Given the description of an element on the screen output the (x, y) to click on. 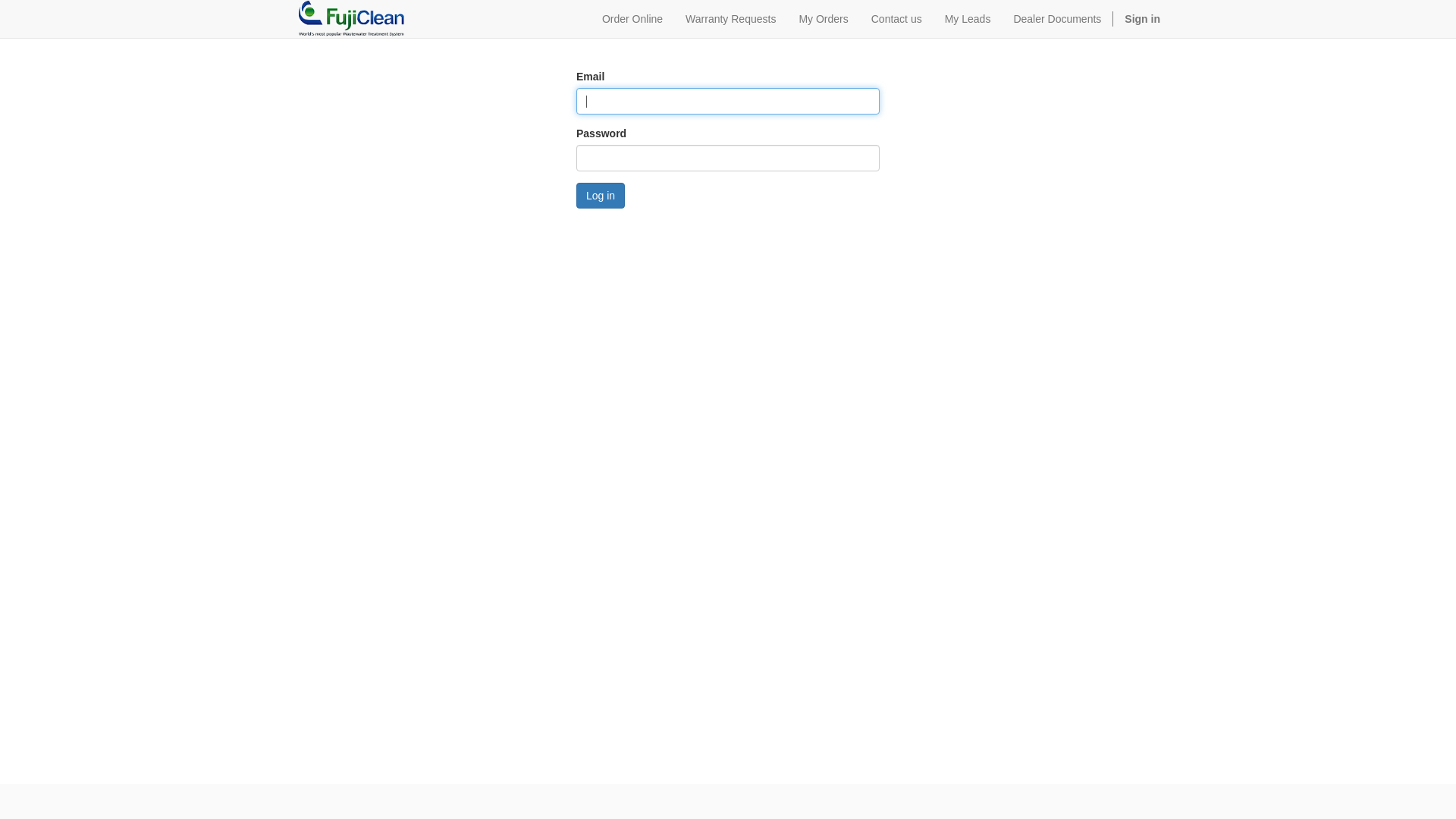
FujiClean Element type: hover (349, 18)
Sign in Element type: text (1142, 18)
Dealer Documents Element type: text (1056, 18)
My Orders Element type: text (823, 18)
Order Online Element type: text (632, 18)
Log in Element type: text (600, 195)
Warranty Requests Element type: text (730, 18)
My Leads Element type: text (967, 18)
Contact us Element type: text (896, 18)
